Given the description of an element on the screen output the (x, y) to click on. 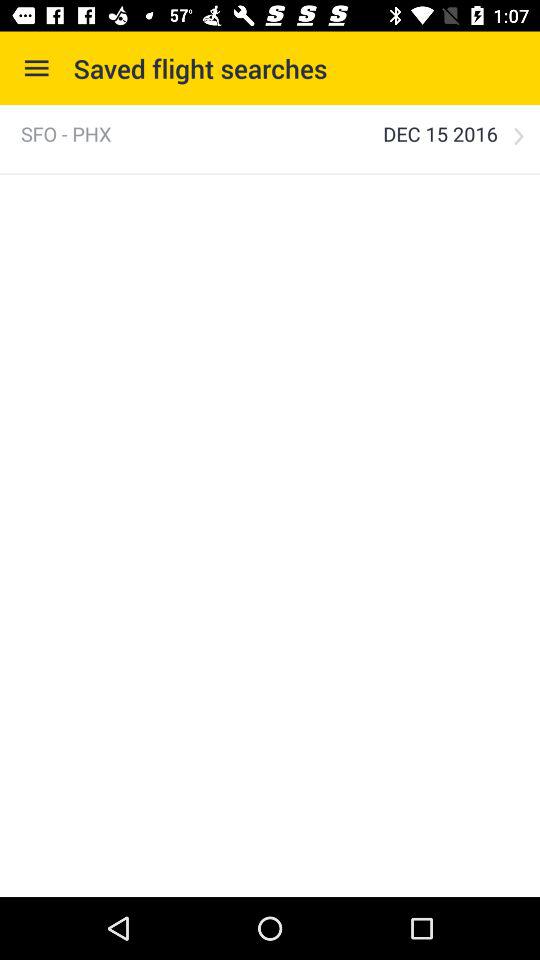
press the item to the right of the dec 15 2016 (518, 136)
